Given the description of an element on the screen output the (x, y) to click on. 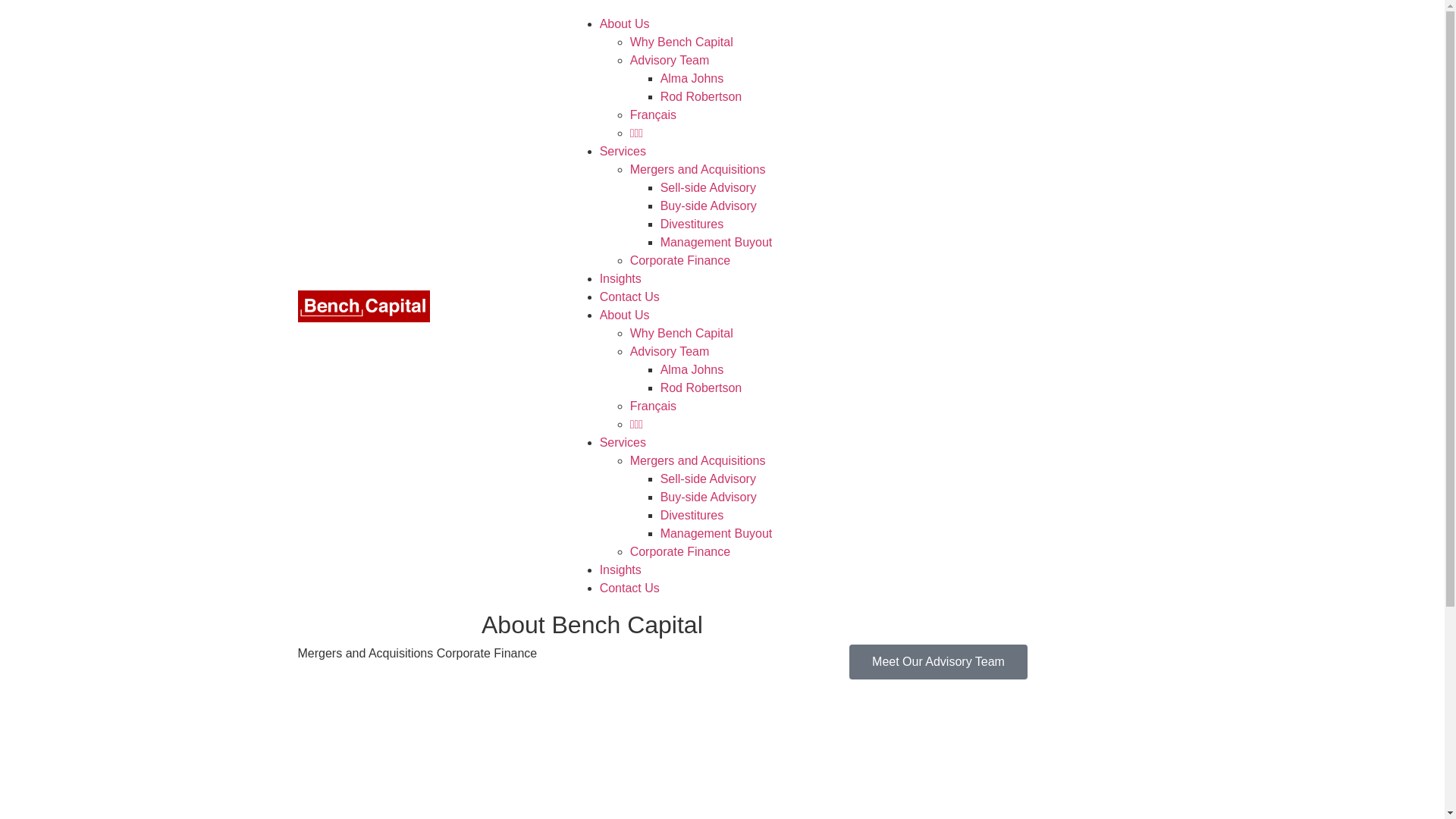
Insights Element type: text (620, 278)
About Us Element type: text (624, 23)
Management Buyout Element type: text (716, 533)
Mergers and Acquisitions Element type: text (697, 169)
Why Bench Capital Element type: text (681, 332)
Rod Robertson Element type: text (701, 387)
Why Bench Capital Element type: text (681, 41)
Divestitures Element type: text (692, 223)
Meet Our Advisory Team Element type: text (938, 661)
Services Element type: text (622, 442)
Alma Johns Element type: text (692, 78)
Contact Us Element type: text (629, 587)
Advisory Team Element type: text (669, 351)
Advisory Team Element type: text (669, 59)
Divestitures Element type: text (692, 514)
Alma Johns Element type: text (692, 369)
Buy-side Advisory Element type: text (708, 205)
Rod Robertson Element type: text (701, 96)
Corporate Finance Element type: text (680, 551)
Sell-side Advisory Element type: text (708, 187)
Services Element type: text (622, 150)
Management Buyout Element type: text (716, 241)
Buy-side Advisory Element type: text (708, 496)
Contact Us Element type: text (629, 296)
Sell-side Advisory Element type: text (708, 478)
Corporate Finance Element type: text (680, 260)
Mergers and Acquisitions Element type: text (697, 460)
About Us Element type: text (624, 314)
logo-bench-newly-designed Element type: hover (363, 306)
Insights Element type: text (620, 569)
